Given the description of an element on the screen output the (x, y) to click on. 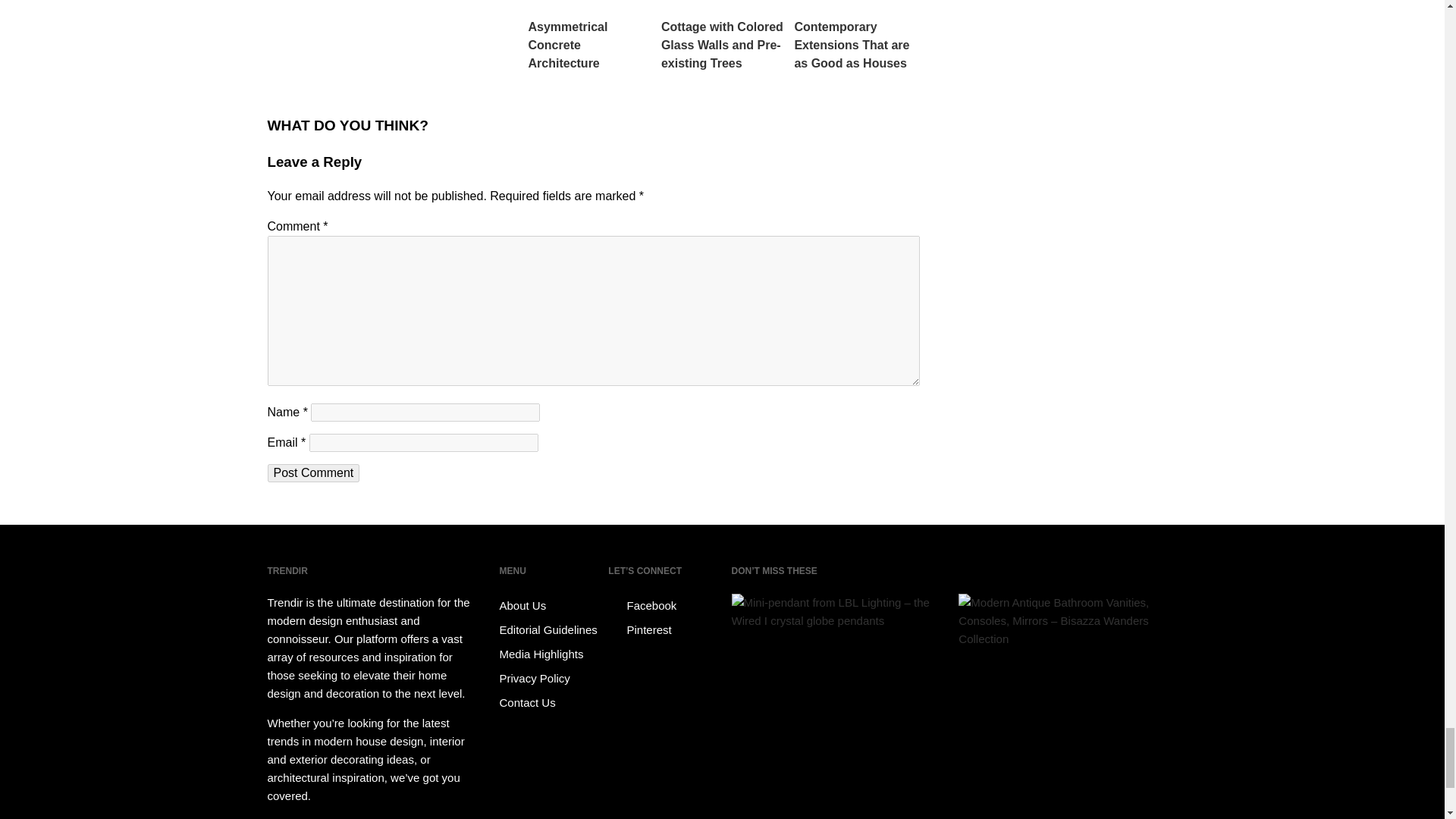
Trendir Editorial Guidelines (551, 630)
Asymmetrical Concrete Architecture (589, 36)
Contemporary Extensions That are as Good as Houses (855, 36)
Post Comment (312, 473)
About Us - Trendir (551, 605)
Media Highlights - Trendir (551, 654)
Cottage with Colored Glass Walls and Pre-existing Trees (723, 36)
Asymmetrical Concrete Architecture (589, 36)
Cottage with Colored Glass Walls and Pre-existing Trees (723, 36)
